Given the description of an element on the screen output the (x, y) to click on. 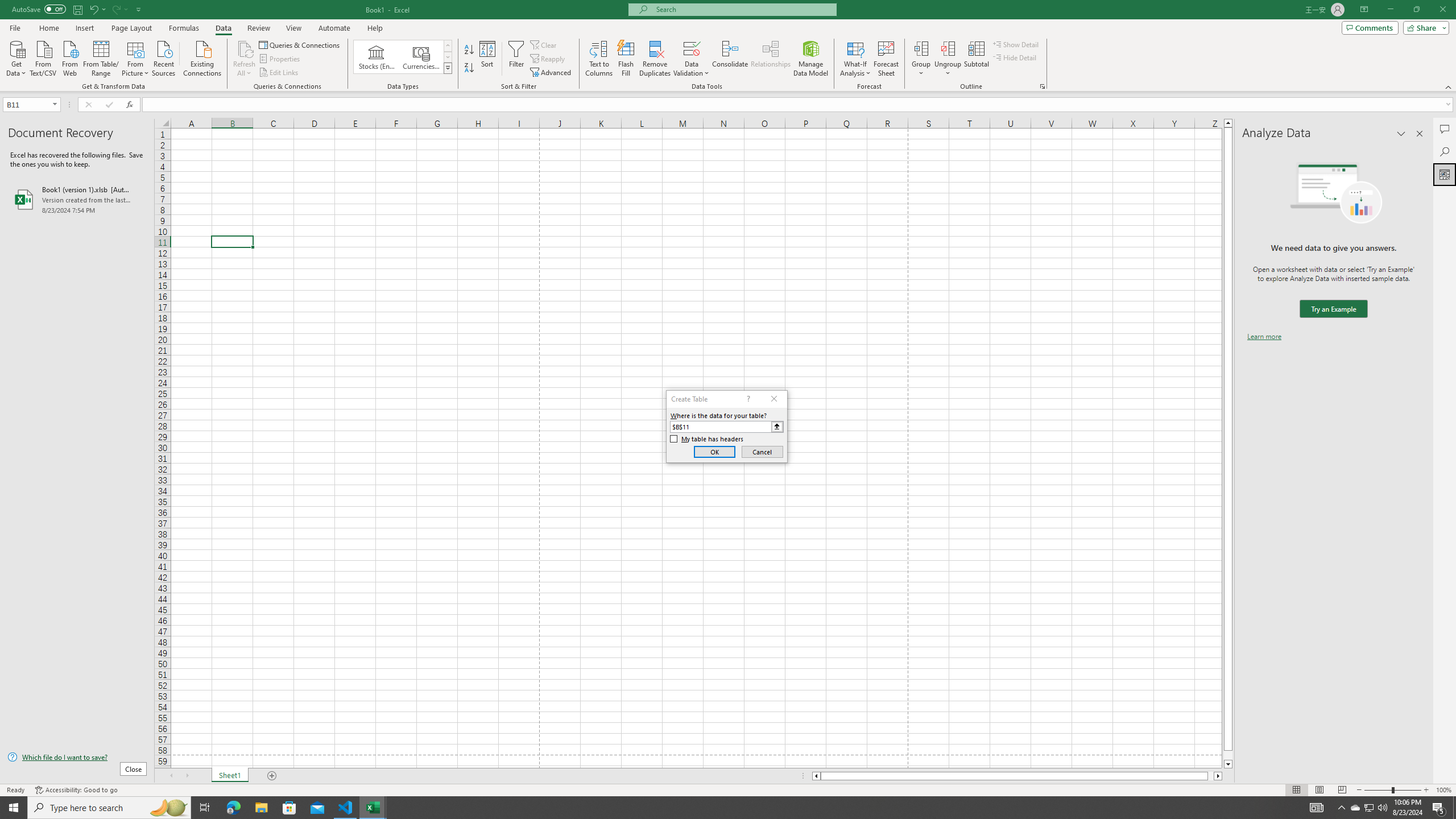
Forecast Sheet (885, 58)
Manage Data Model (810, 58)
Edit Links (279, 72)
